Given the description of an element on the screen output the (x, y) to click on. 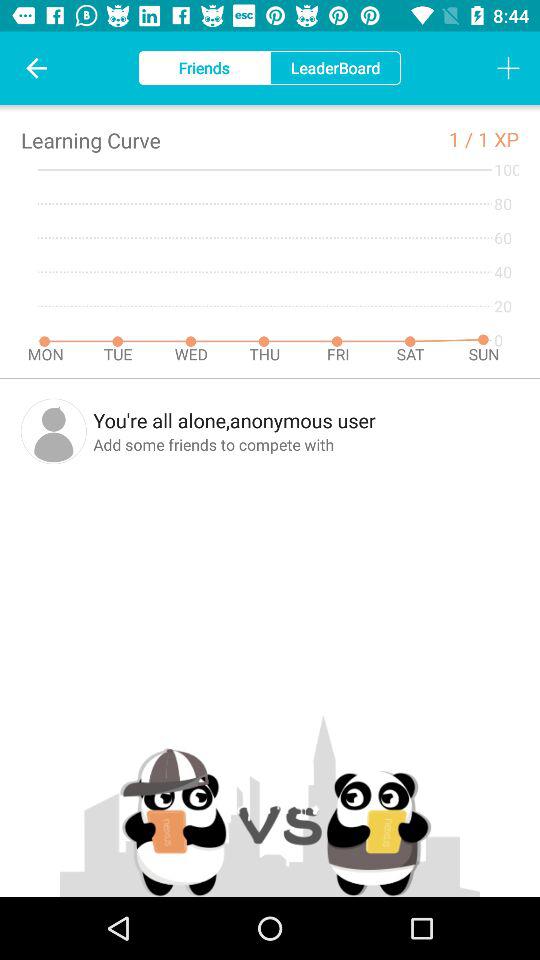
choose the icon to the left of the you re all (53, 431)
